Given the description of an element on the screen output the (x, y) to click on. 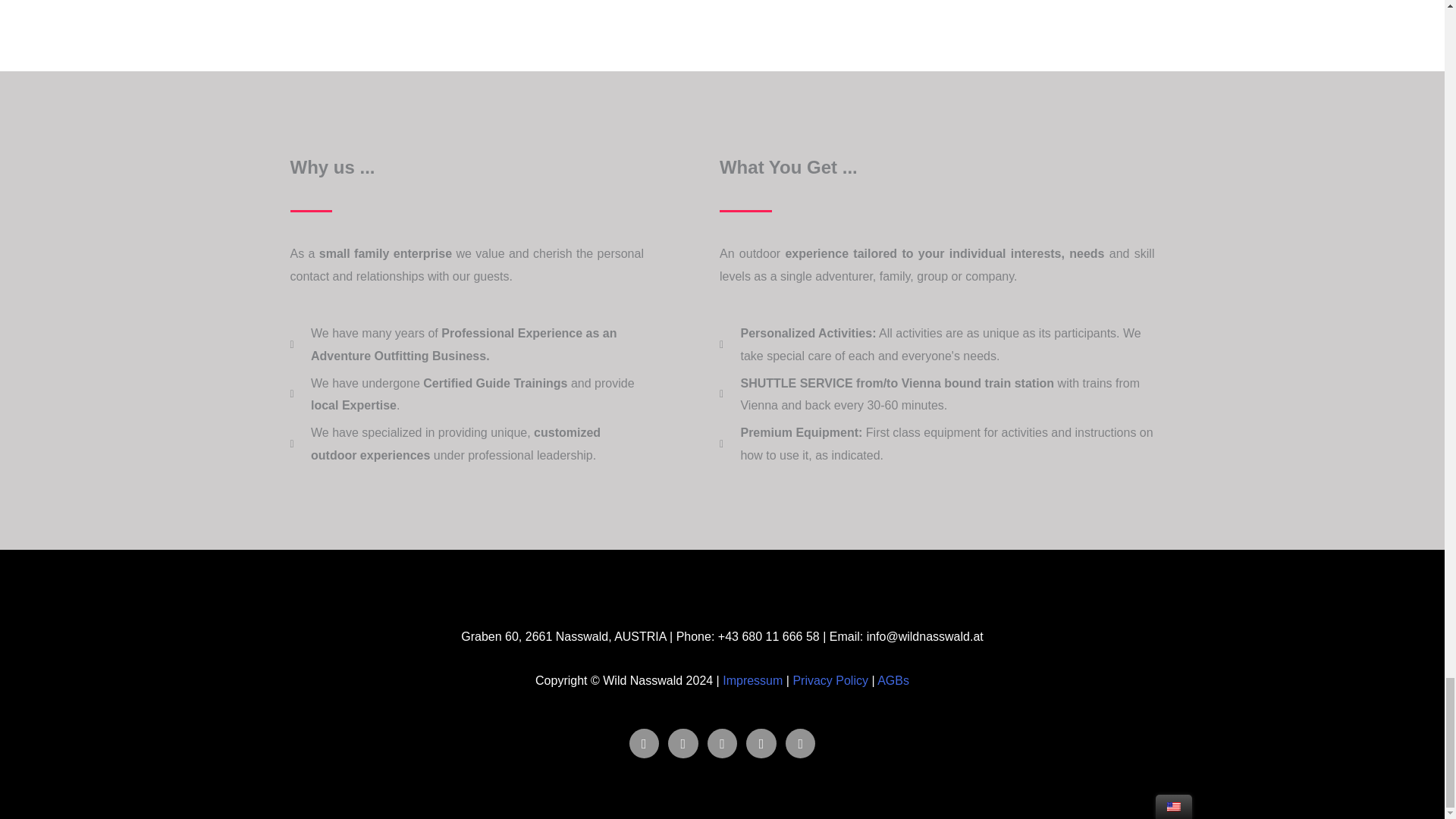
Impressum (752, 680)
Privacy Policy (829, 680)
AGBs (892, 680)
